Given the description of an element on the screen output the (x, y) to click on. 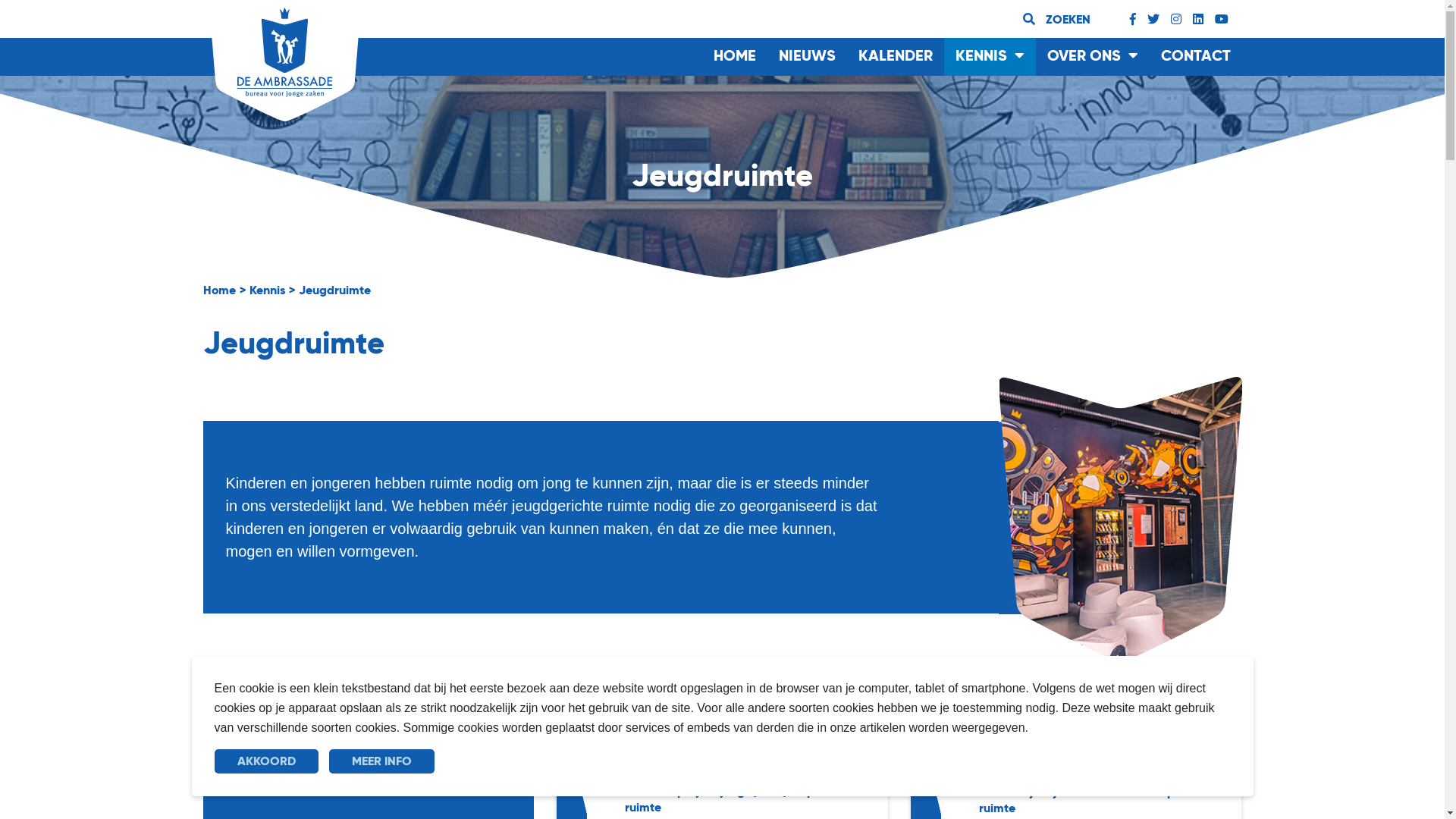
KALENDER Element type: text (894, 56)
MEER INFO Element type: text (381, 761)
Kennis Element type: text (266, 291)
AKKOORD Element type: text (265, 761)
HOME Element type: text (734, 56)
Home Element type: text (219, 291)
Linkedin Element type: hover (1197, 18)
Twitter Element type: hover (1153, 18)
OVER ONS Element type: text (1092, 56)
KENNIS Element type: text (989, 56)
CONTACT Element type: text (1195, 56)
NIEUWS Element type: text (807, 56)
Youtube Element type: hover (1221, 18)
[anysurfer.logo] Element type: hover (283, 52)
Instagram Element type: hover (1175, 18)
ZOEKEN Element type: text (1056, 18)
Facebook-f Element type: hover (1132, 18)
